Given the description of an element on the screen output the (x, y) to click on. 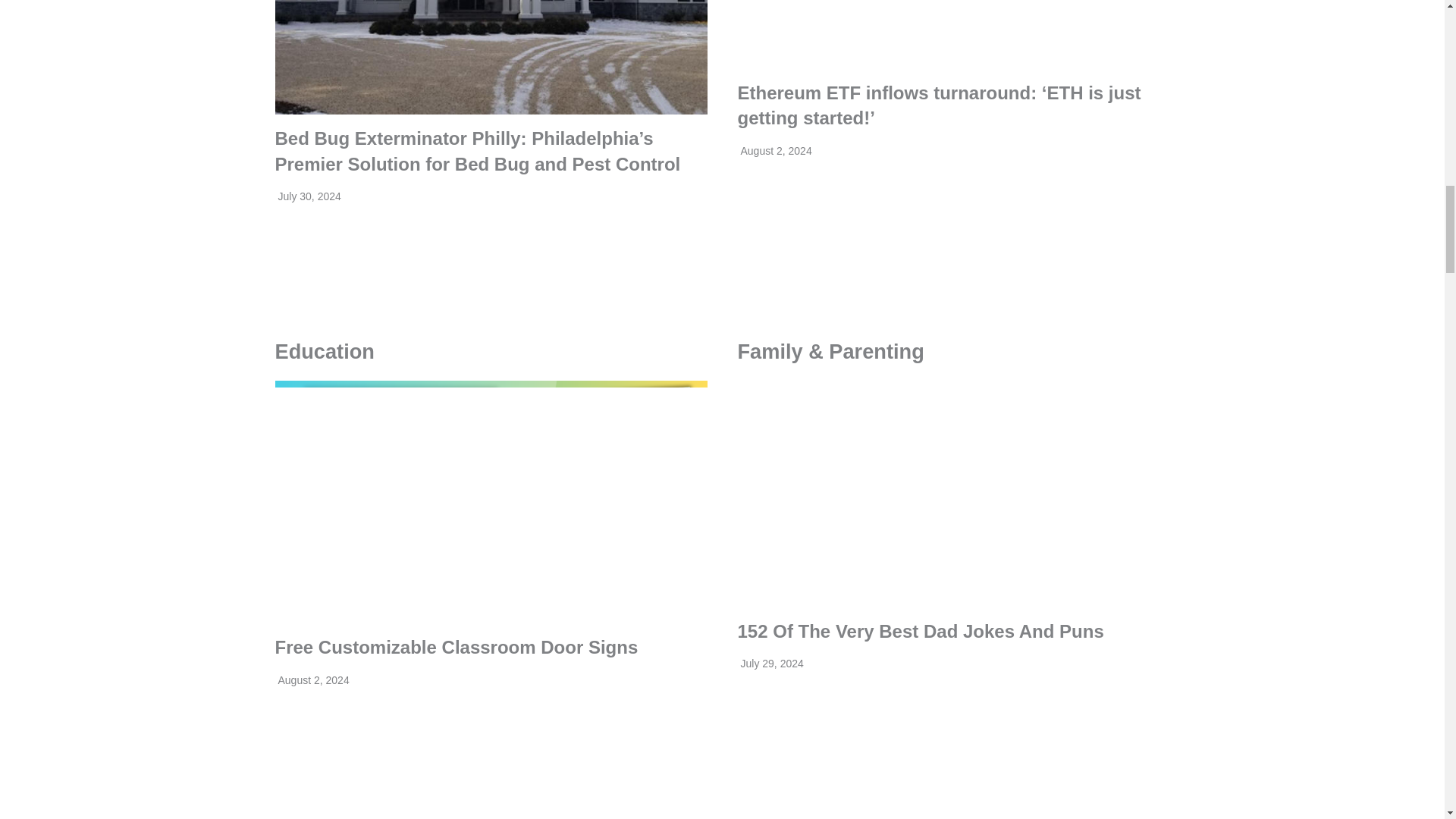
Advertisement (490, 771)
Advertisement (952, 762)
